Given the description of an element on the screen output the (x, y) to click on. 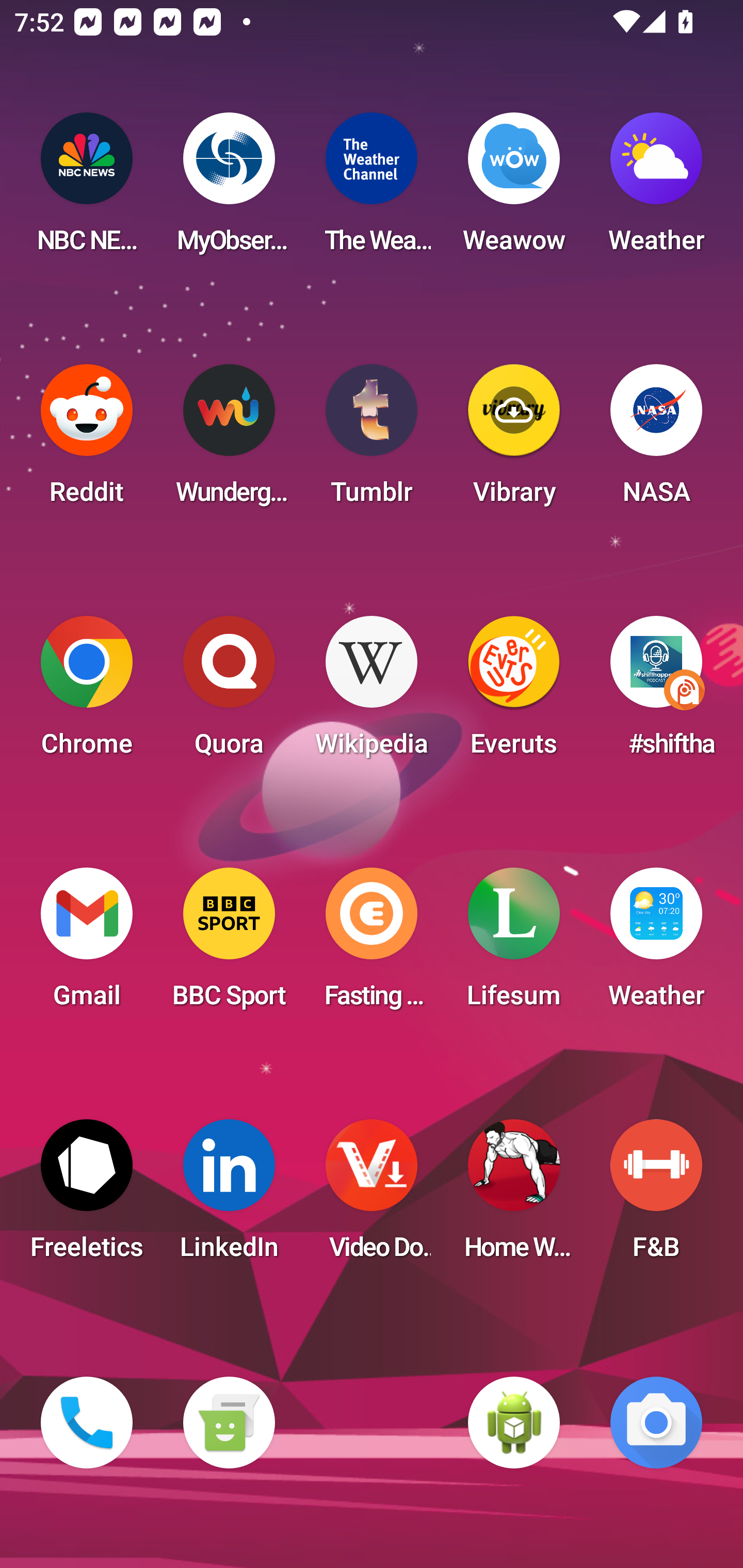
NBC NEWS (86, 188)
MyObservatory (228, 188)
The Weather Channel (371, 188)
Weawow (513, 188)
Weather (656, 188)
Reddit (86, 440)
Wunderground (228, 440)
Tumblr (371, 440)
Vibrary (513, 440)
NASA (656, 440)
Chrome (86, 692)
Quora (228, 692)
Wikipedia (371, 692)
Everuts (513, 692)
#shifthappens in the Digital Workplace Podcast (656, 692)
Gmail (86, 943)
BBC Sport (228, 943)
Fasting Coach (371, 943)
Lifesum (513, 943)
Weather (656, 943)
Freeletics (86, 1195)
LinkedIn (228, 1195)
Video Downloader & Ace Player (371, 1195)
Home Workout (513, 1195)
F&B (656, 1195)
Phone (86, 1422)
Messaging (228, 1422)
WebView Browser Tester (513, 1422)
Camera (656, 1422)
